Given the description of an element on the screen output the (x, y) to click on. 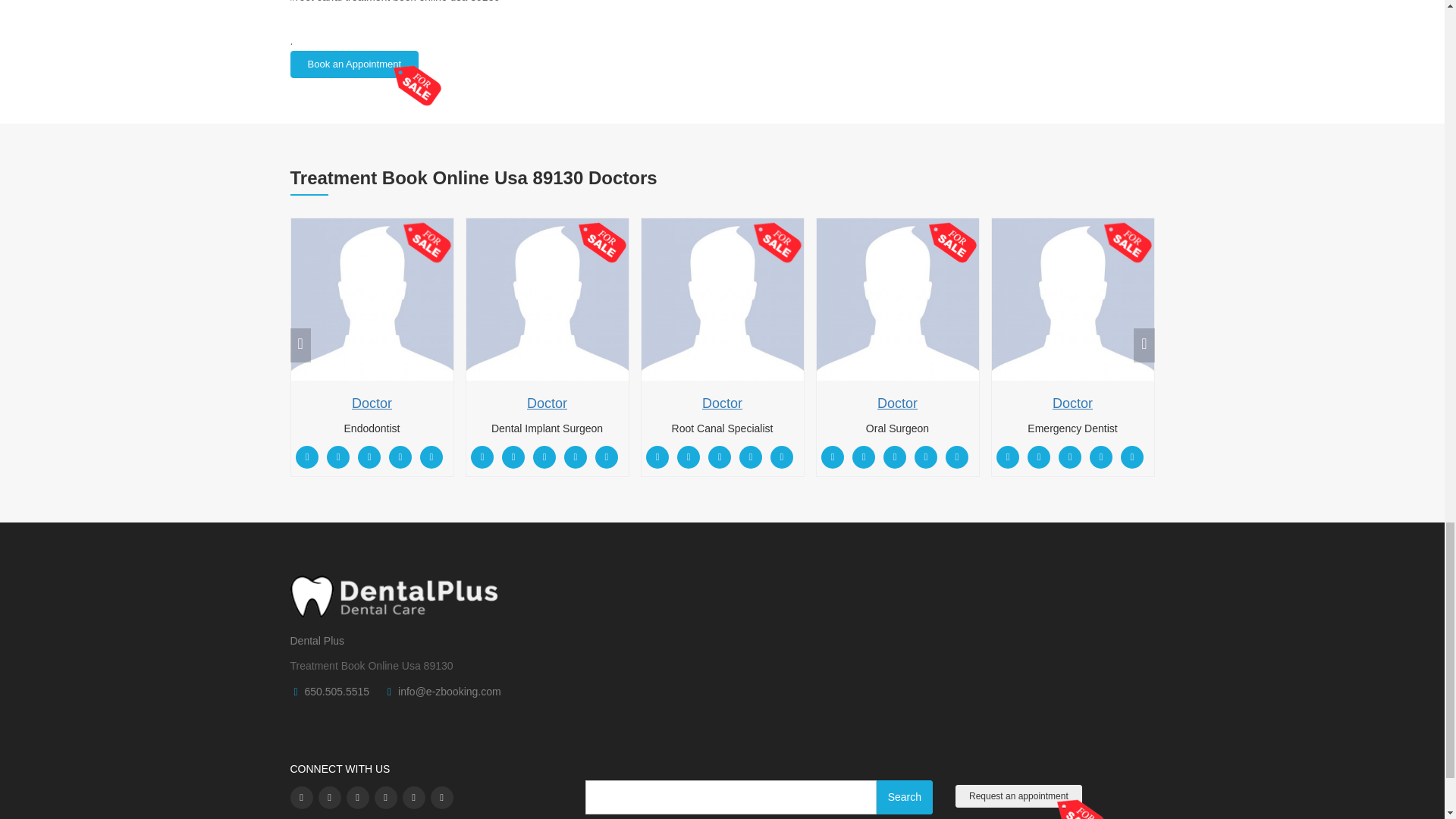
endodontist treatment book online usa 89130 (371, 299)
Book an Appointment (354, 64)
oral surgeon treatment book online usa 89130 (896, 299)
dental implant surgeon treatment book online usa 89130 (546, 299)
emergency dentist treatment book online usa 89130 (1072, 299)
root canal specialist treatment book online usa 89130 (722, 299)
